Given the description of an element on the screen output the (x, y) to click on. 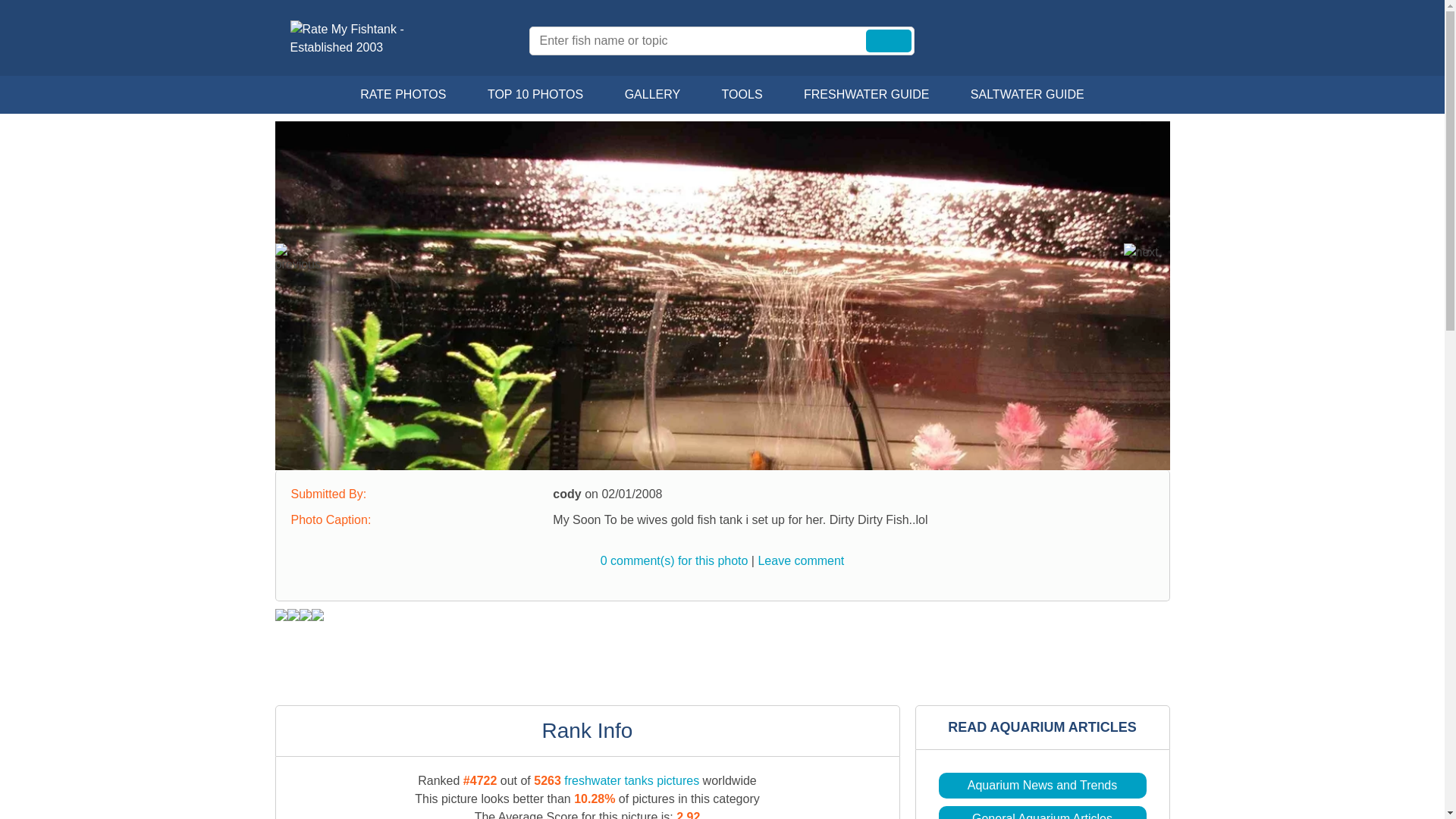
Rate My Fishtank - Established 2003 (368, 38)
SALTWATER GUIDE (1027, 94)
Aquarium News and Trends (1042, 784)
TOOLS (742, 94)
Leave comment (800, 560)
FRESHWATER GUIDE (865, 94)
GALLERY (652, 94)
TOP 10 PHOTOS (535, 94)
